Given the description of an element on the screen output the (x, y) to click on. 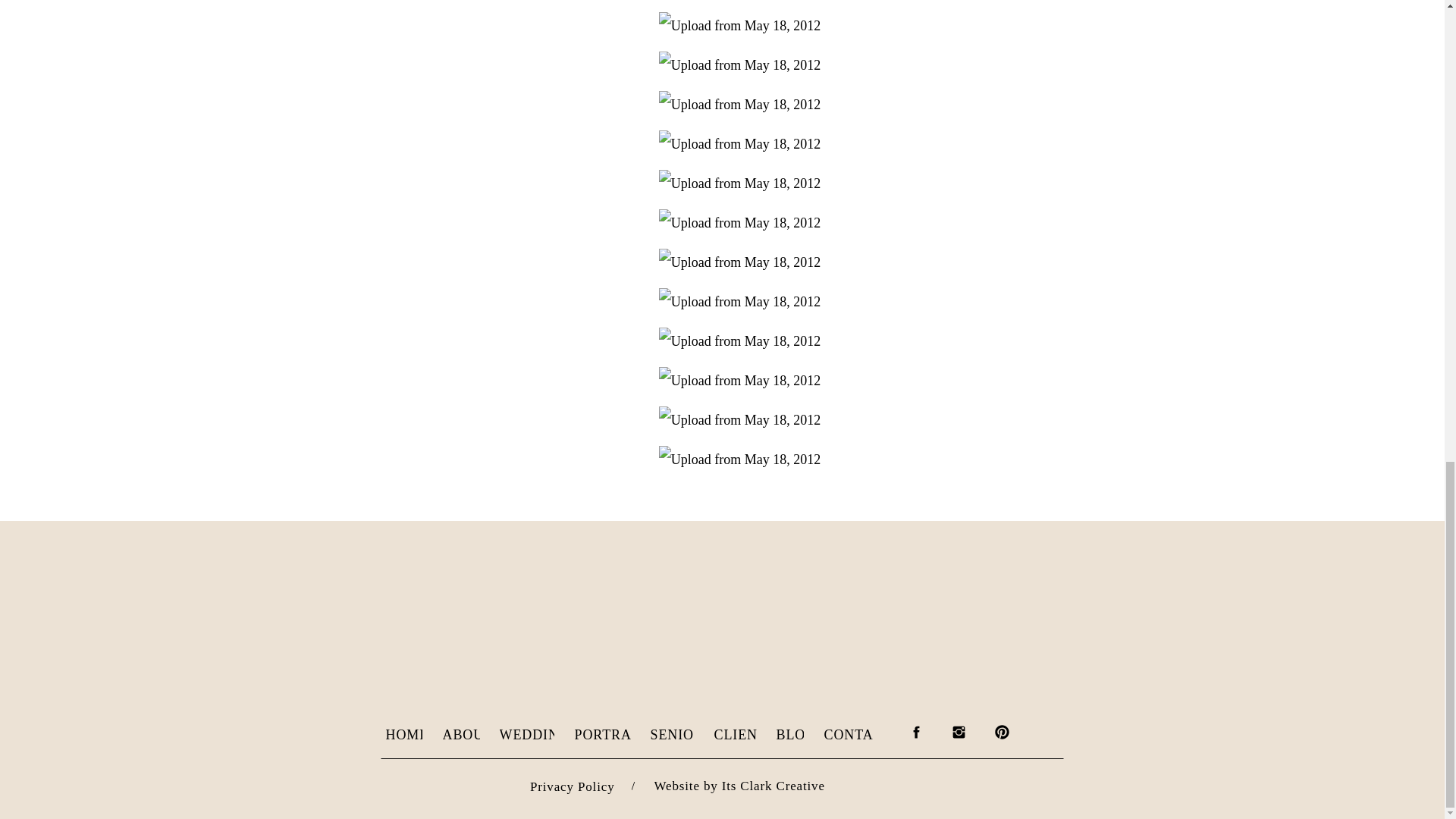
Upload from May 18, 2012 (740, 103)
Website by Its Clark Creative (802, 784)
Upload from May 18, 2012 (740, 144)
Upload from May 18, 2012 (740, 25)
Upload from May 18, 2012 (740, 64)
Upload from May 18, 2012 (740, 301)
Upload from May 18, 2012 (740, 183)
Upload from May 18, 2012 (740, 222)
Upload from May 18, 2012 (740, 379)
Upload from May 18, 2012 (740, 262)
Upload from May 18, 2012 (740, 340)
Privacy Policy (553, 784)
